Given the description of an element on the screen output the (x, y) to click on. 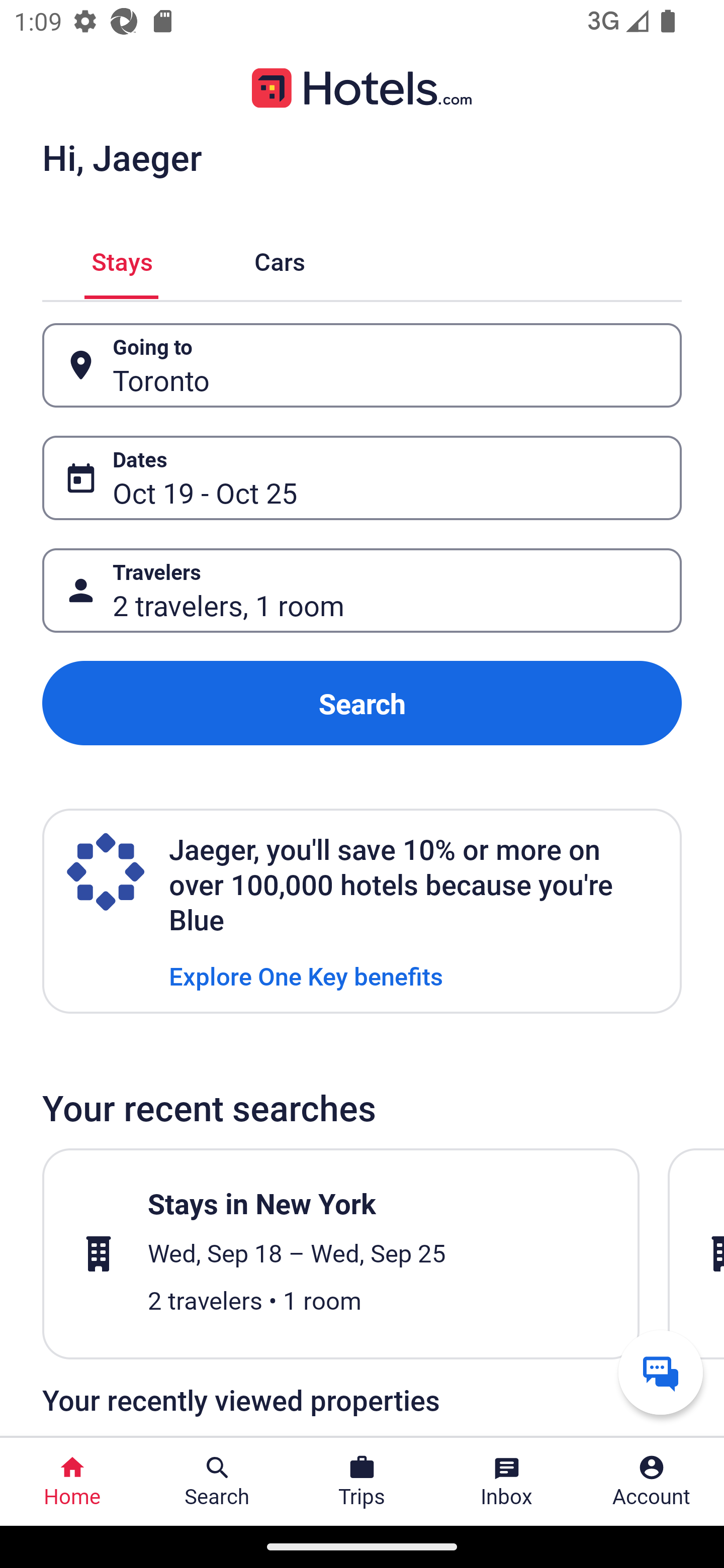
Hi, Jaeger (121, 156)
Cars (279, 259)
Going to Button Toronto (361, 365)
Dates Button Oct 19 - Oct 25 (361, 477)
Travelers Button 2 travelers, 1 room (361, 590)
Search (361, 702)
Get help from a virtual agent (660, 1371)
Search Search Button (216, 1481)
Trips Trips Button (361, 1481)
Inbox Inbox Button (506, 1481)
Account Profile. Button (651, 1481)
